Given the description of an element on the screen output the (x, y) to click on. 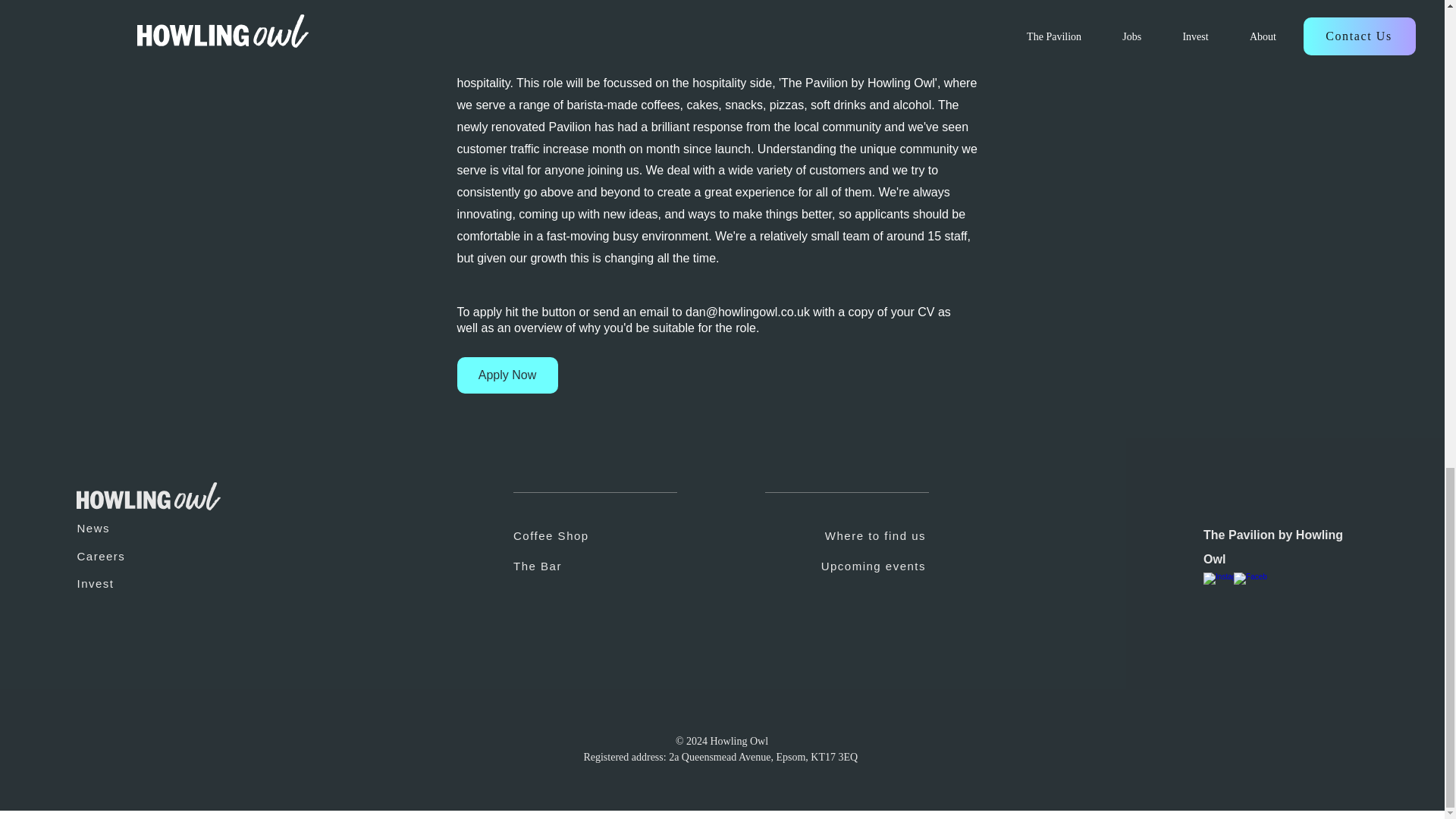
Where to find us (826, 535)
News (141, 527)
Coffee Shop (615, 535)
AceBuddy (417, 793)
Upcoming events (826, 565)
Careers (141, 555)
Invest (141, 583)
The Bar (615, 565)
Apply Now (507, 375)
